Given the description of an element on the screen output the (x, y) to click on. 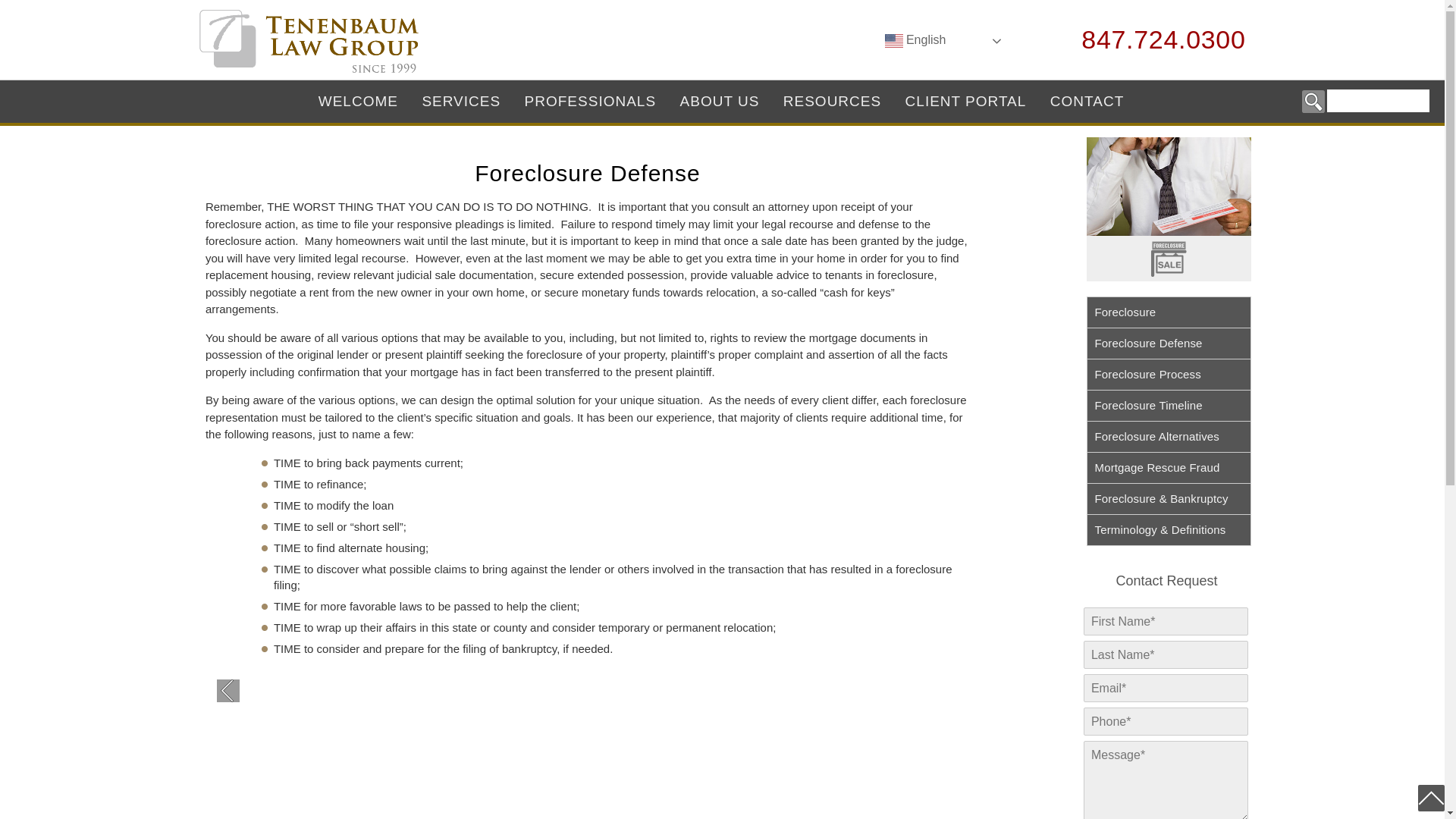
English (944, 40)
ABOUT US (719, 101)
847.724.0300 (1153, 39)
RESOURCES (831, 101)
Foreclosure (1168, 312)
SERVICES (461, 101)
Search (1312, 101)
Foreclosure Defense (1168, 343)
CONTACT (1087, 101)
WELCOME (358, 101)
PROFESSIONALS (590, 101)
CLIENT PORTAL (965, 101)
Search (1312, 101)
Return to the previous page (228, 690)
